Given the description of an element on the screen output the (x, y) to click on. 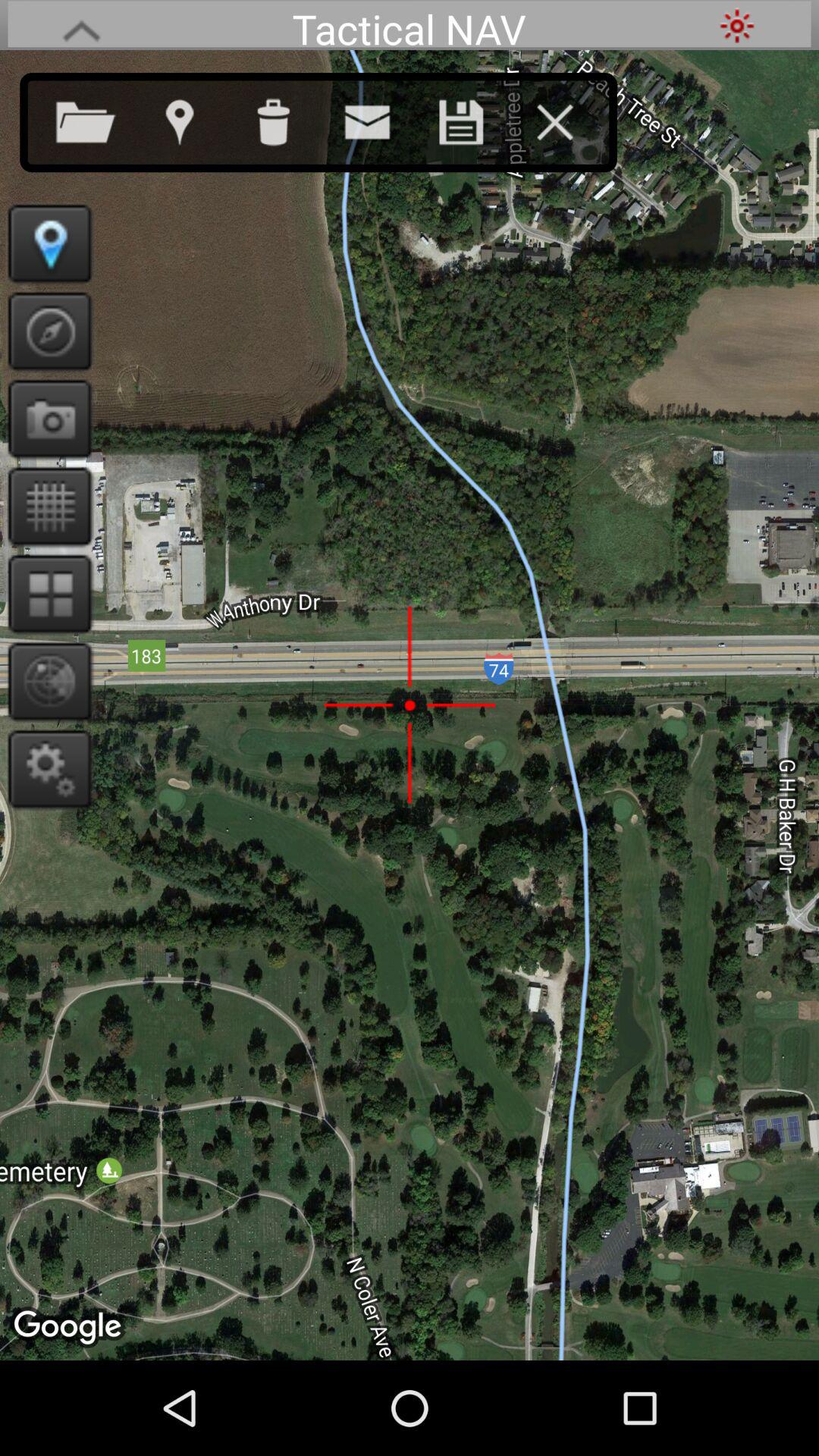
open files (100, 119)
